Given the description of an element on the screen output the (x, y) to click on. 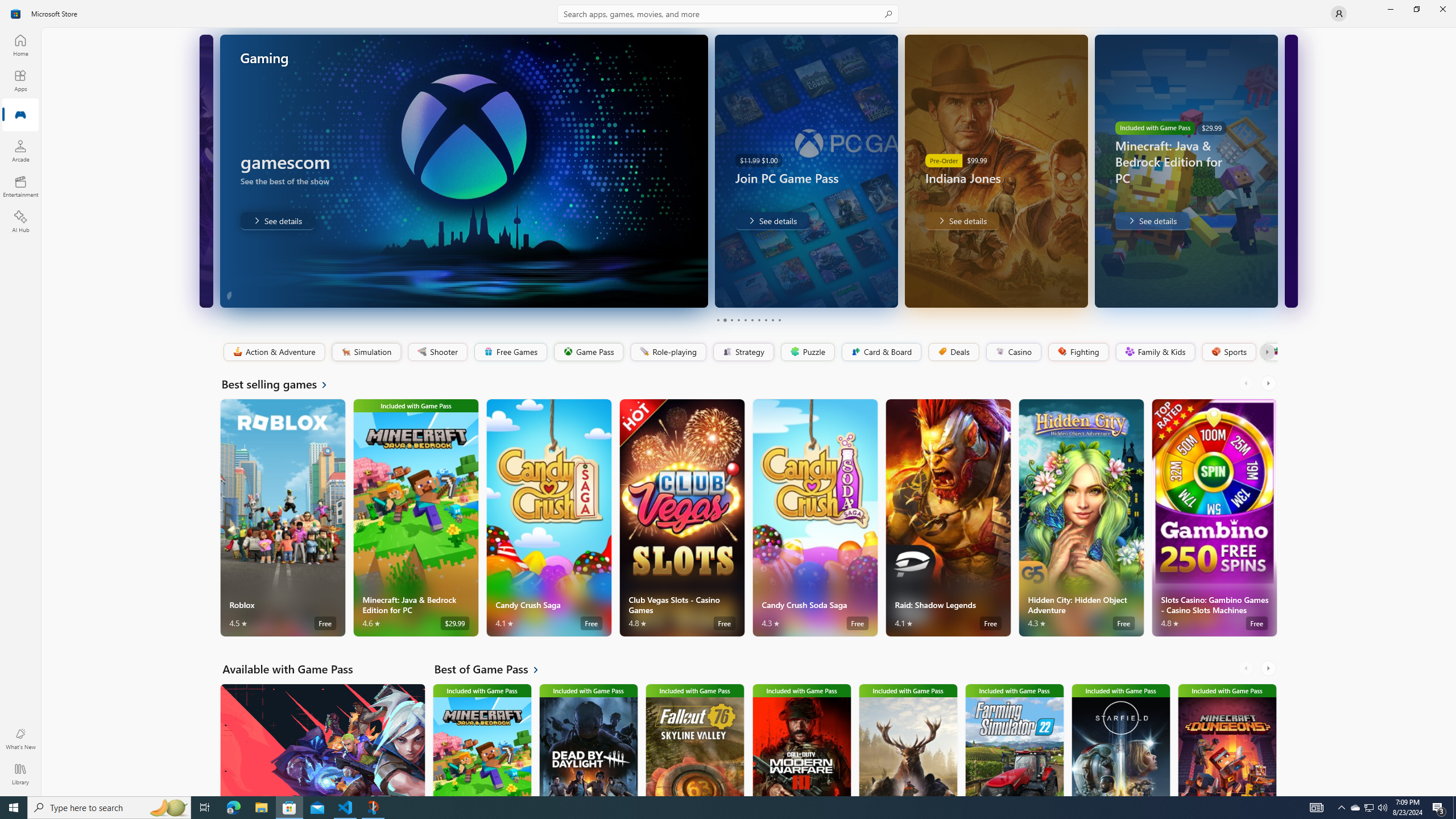
See all  Best selling games (280, 383)
Action & Adventure (273, 352)
Page 5 (744, 319)
Class: Image (1274, 351)
Sports (1228, 352)
Apps (20, 80)
